Given the description of an element on the screen output the (x, y) to click on. 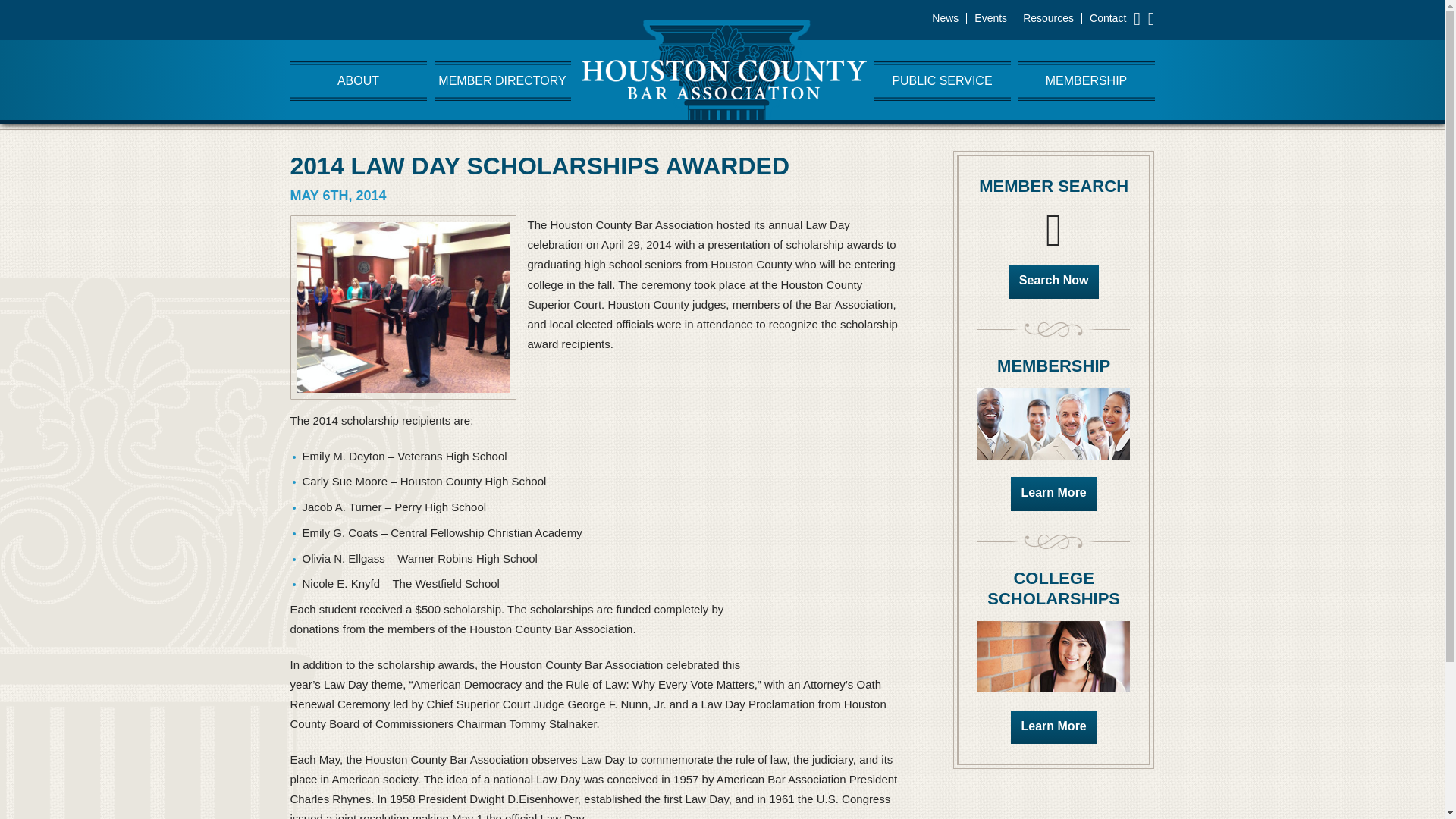
ABOUT (357, 80)
MEMBER DIRECTORY (501, 80)
Events (990, 18)
Resources (1047, 18)
MEMBERSHIP (1085, 80)
Contact (1107, 18)
PUBLIC SERVICE (941, 80)
Search Now (1054, 281)
Learn More (1053, 726)
2014 LAW DAY SCHOLARSHIPS AWARDED (539, 165)
News (945, 18)
Learn More (1053, 493)
